Given the description of an element on the screen output the (x, y) to click on. 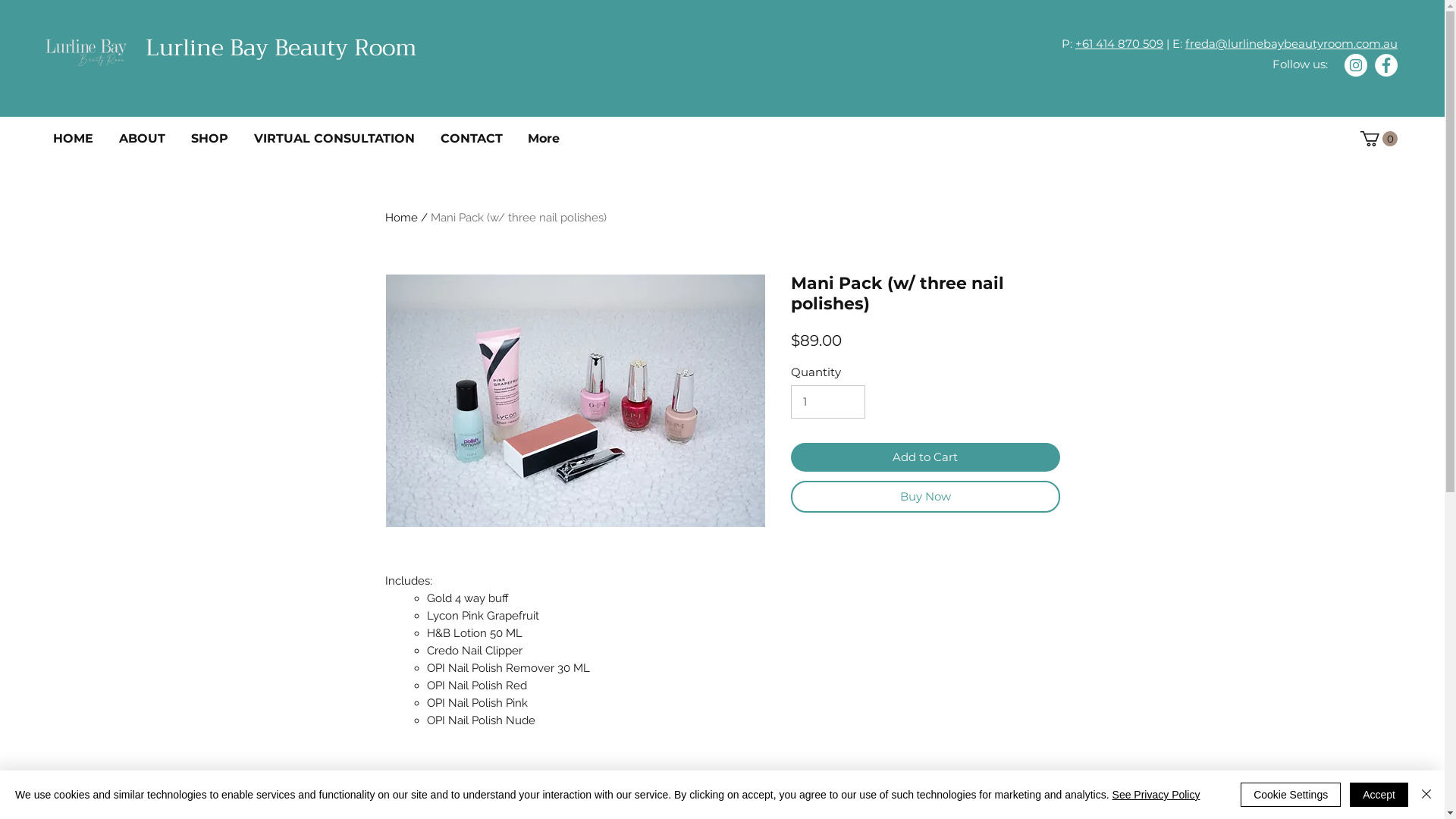
0 Element type: text (1378, 138)
See Privacy Policy Element type: text (1156, 794)
ABOUT Element type: text (147, 138)
freda@lurlinebaybeautyroom.com.au Element type: text (1291, 43)
Add to Cart Element type: text (924, 457)
Mani Pack (w/ three nail polishes) Element type: text (518, 217)
HOME Element type: text (78, 138)
CONTACT Element type: text (476, 138)
Cookie Settings Element type: text (1290, 794)
+61 414 870 509 Element type: text (1119, 43)
SHOP Element type: text (214, 138)
VIRTUAL CONSULTATION Element type: text (339, 138)
Buy Now Element type: text (924, 496)
Accept Element type: text (1378, 794)
Lurline Bay Beauty Room Element type: text (280, 47)
Home Element type: text (401, 217)
